Given the description of an element on the screen output the (x, y) to click on. 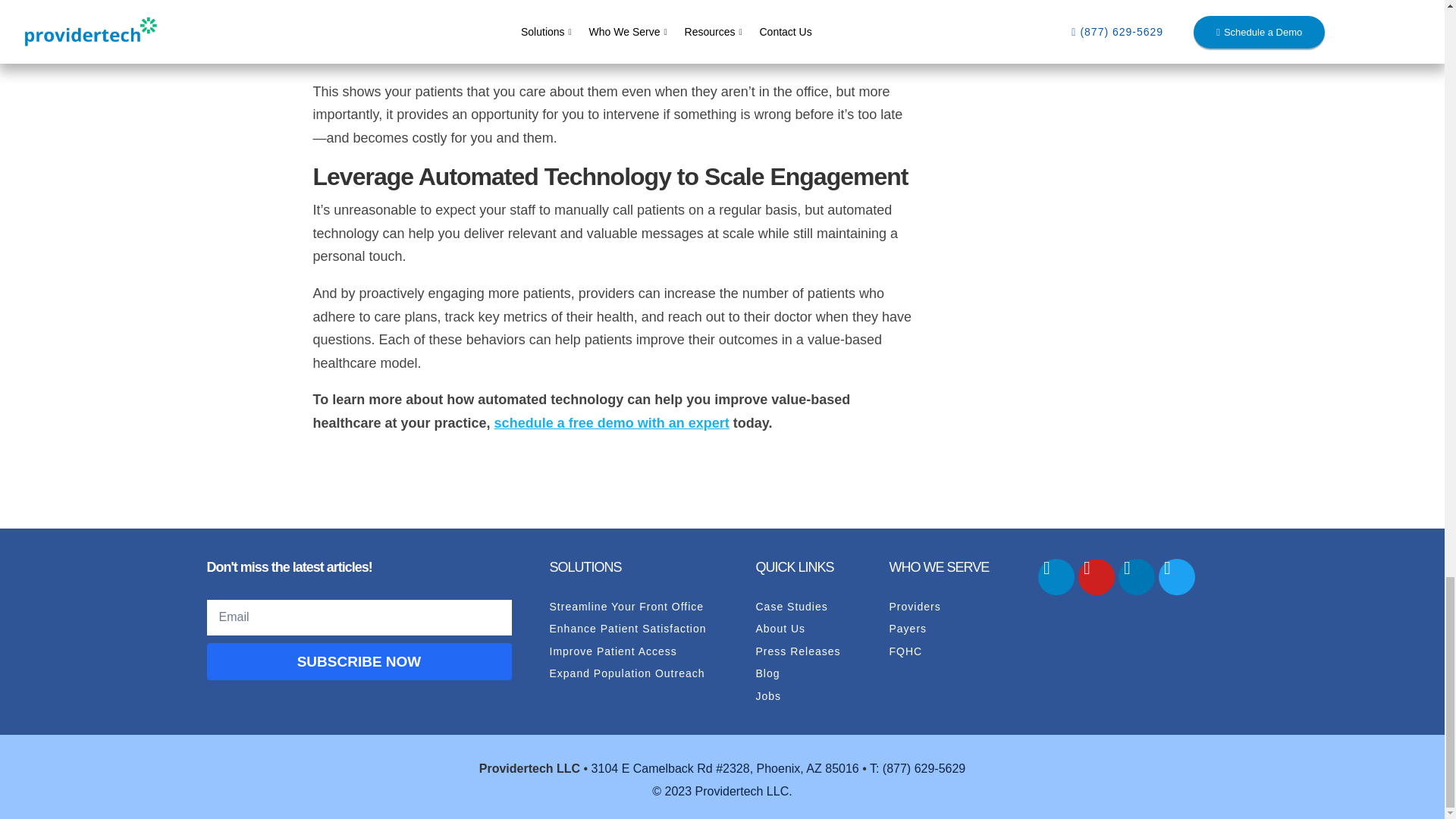
View A Map (725, 768)
Call Now (917, 768)
